Given the description of an element on the screen output the (x, y) to click on. 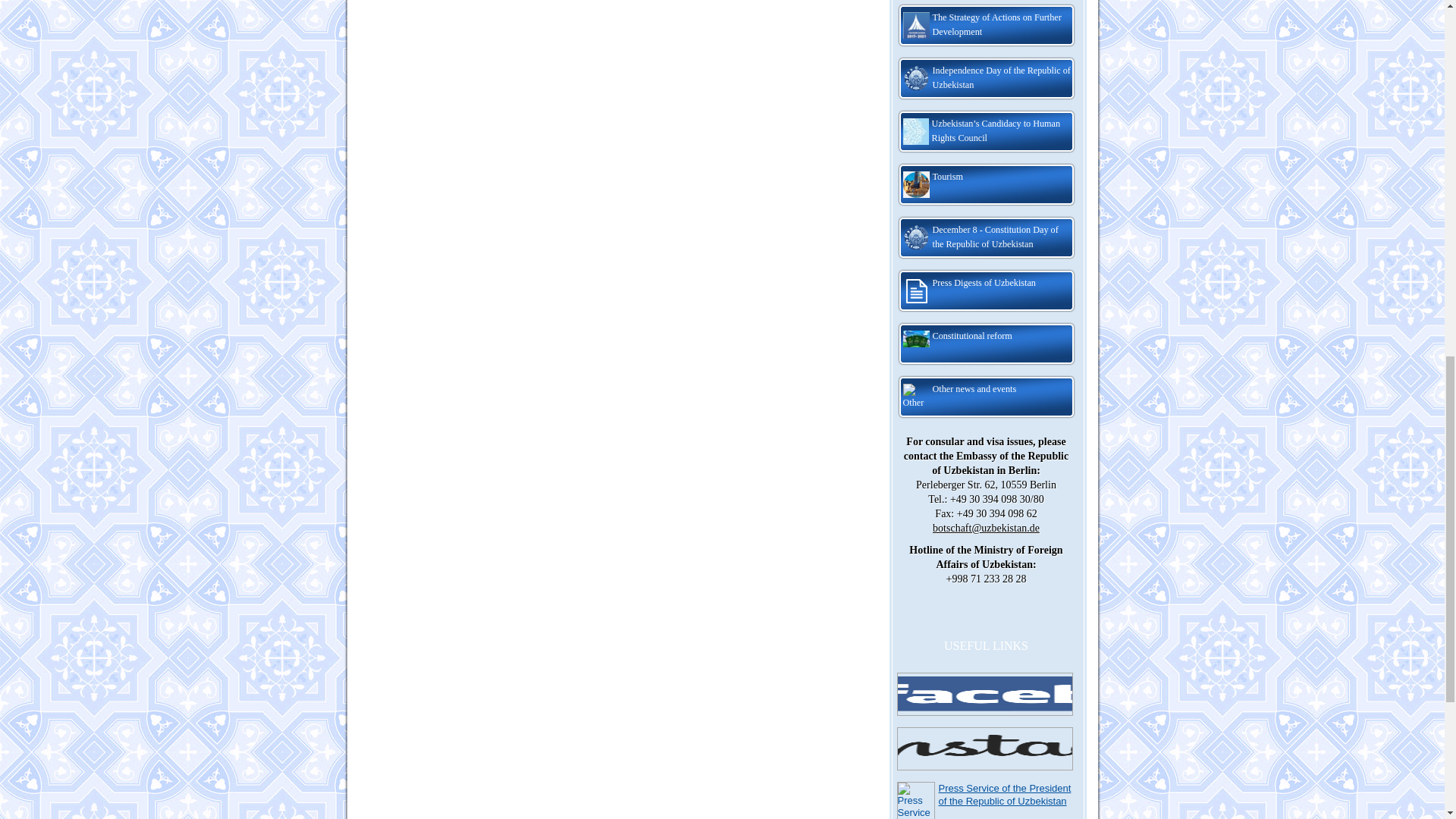
Press Service of the President of the Republic of Uzbekistan (1005, 794)
Constitutional reform (985, 343)
December 8 - Constitution Day of the Republic of Uzbekistan (985, 238)
Other news and events (985, 397)
Independence Day of the Republic of Uzbekistan (985, 78)
Tourism (985, 185)
Press Digests of Uzbekistan (985, 290)
The Strategy of Actions on Further Development (985, 25)
